Given the description of an element on the screen output the (x, y) to click on. 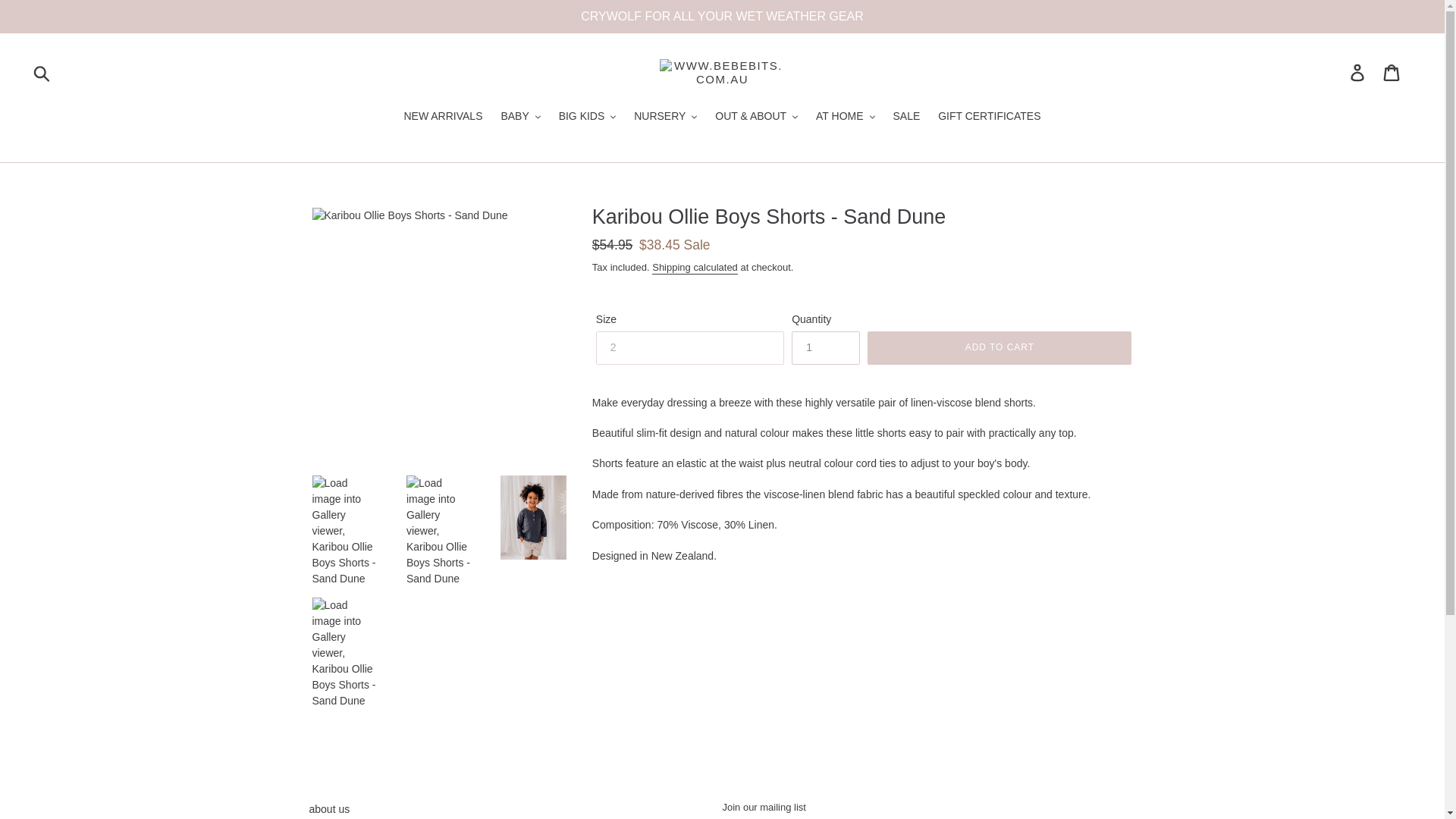
Submit (42, 72)
Log in (1357, 72)
1 (826, 347)
Cart (1392, 72)
